Given the description of an element on the screen output the (x, y) to click on. 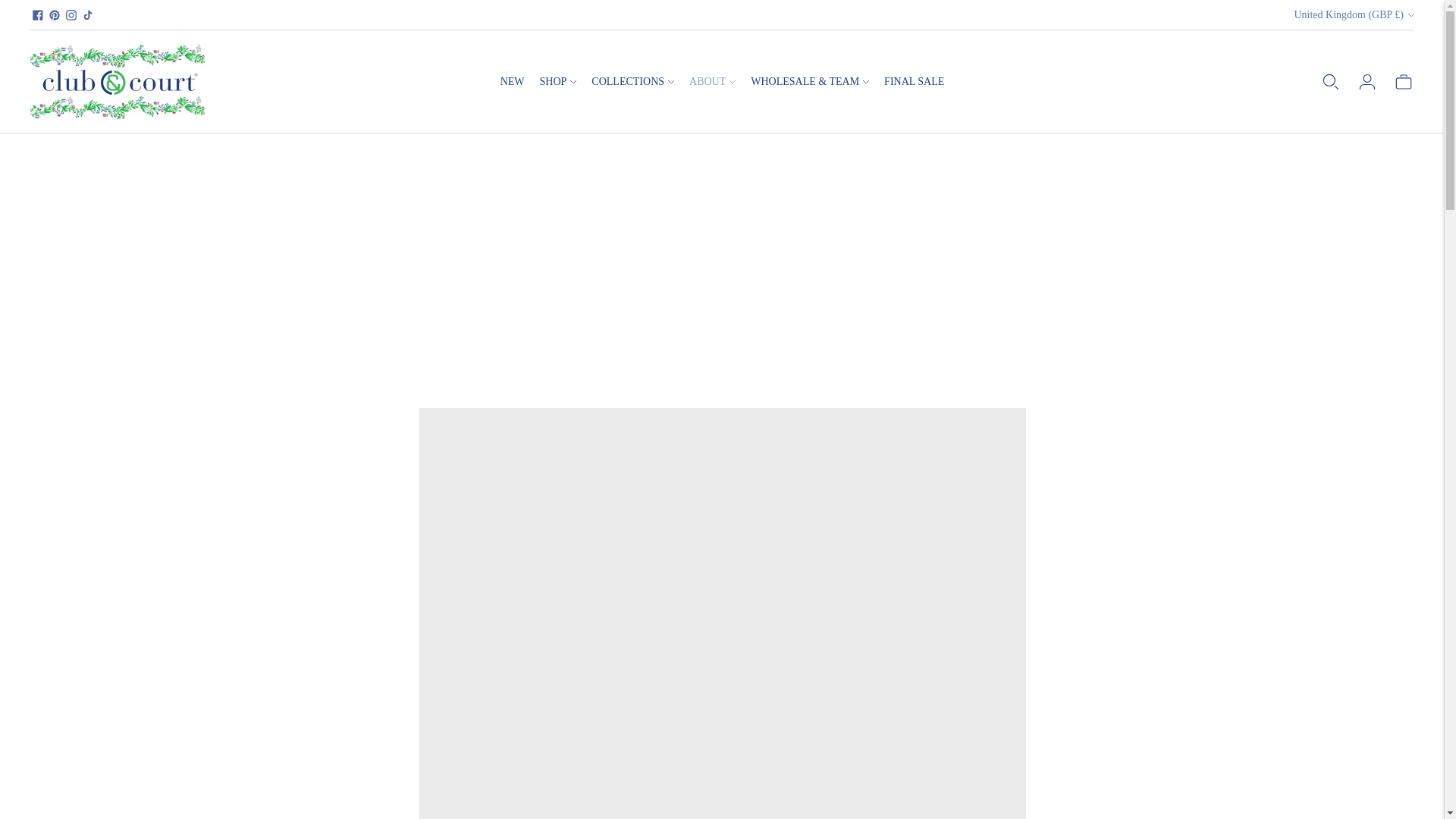
Club and Court on Instagram (71, 14)
Club and Court on TikTok (87, 14)
Club and Court on Pinterest (54, 14)
Club and Court on Facebook (37, 14)
